Given the description of an element on the screen output the (x, y) to click on. 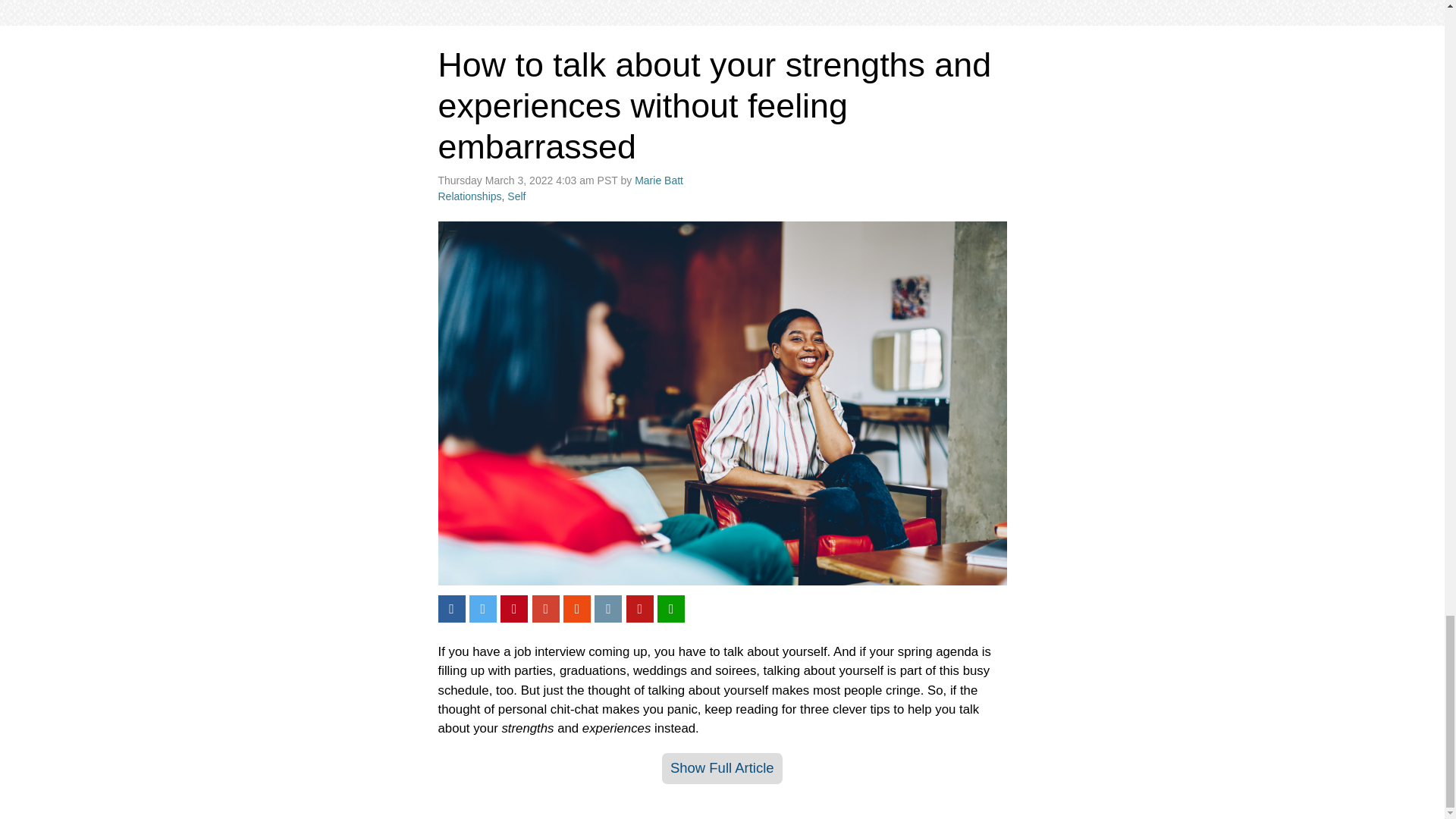
Posts by Marie Batt (658, 180)
Self Tag (515, 196)
Relationships Tag (470, 196)
3rd party ad content (721, 5)
